Given the description of an element on the screen output the (x, y) to click on. 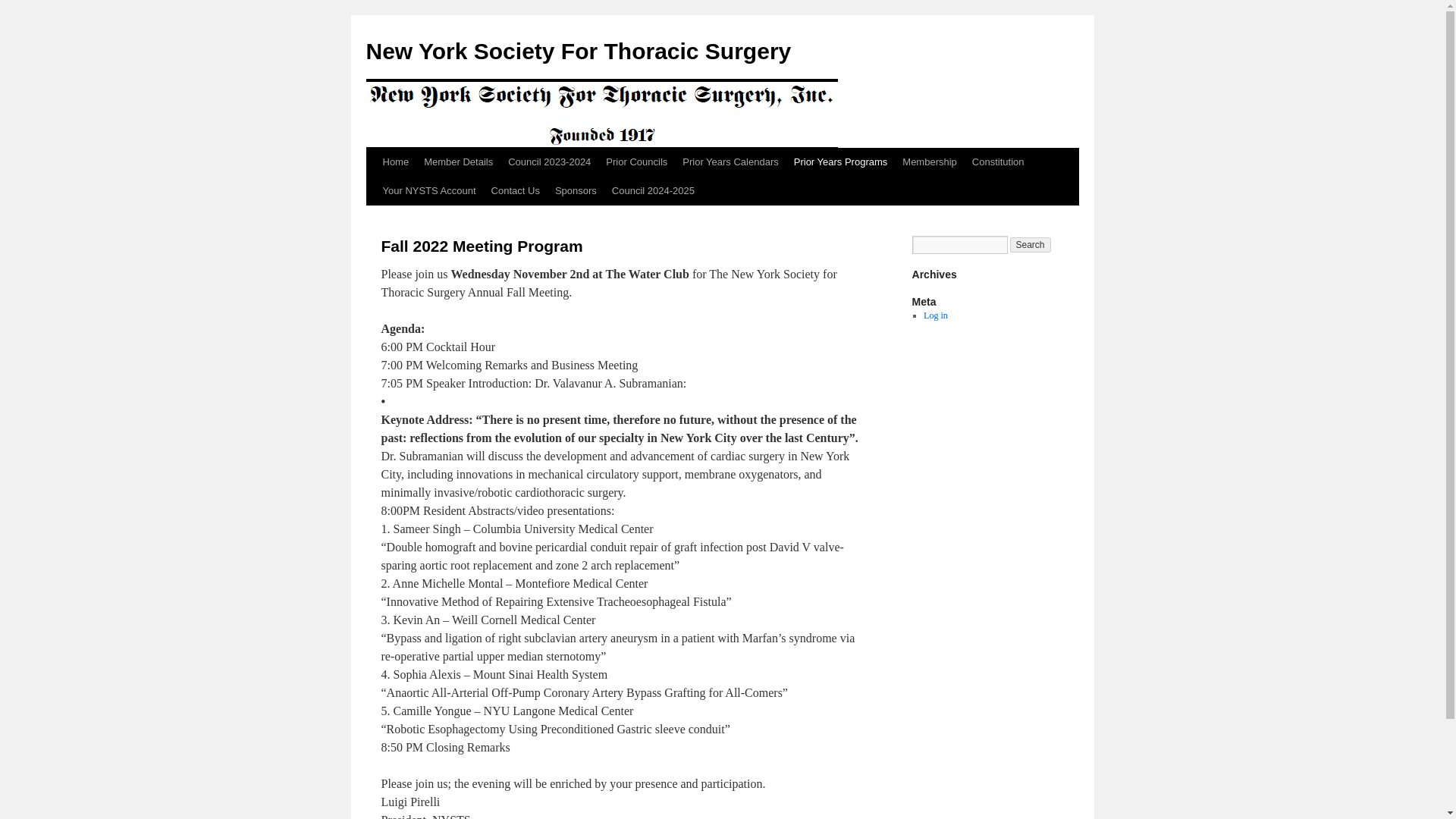
Council 2023-2024 (549, 162)
Home (395, 162)
Member Details (458, 162)
Membership (929, 162)
Prior Councils (636, 162)
Constitution (997, 162)
New York Society For Thoracic Surgery (577, 50)
Prior Years Programs (840, 162)
Search (1030, 244)
Prior Years Calendars (730, 162)
